Given the description of an element on the screen output the (x, y) to click on. 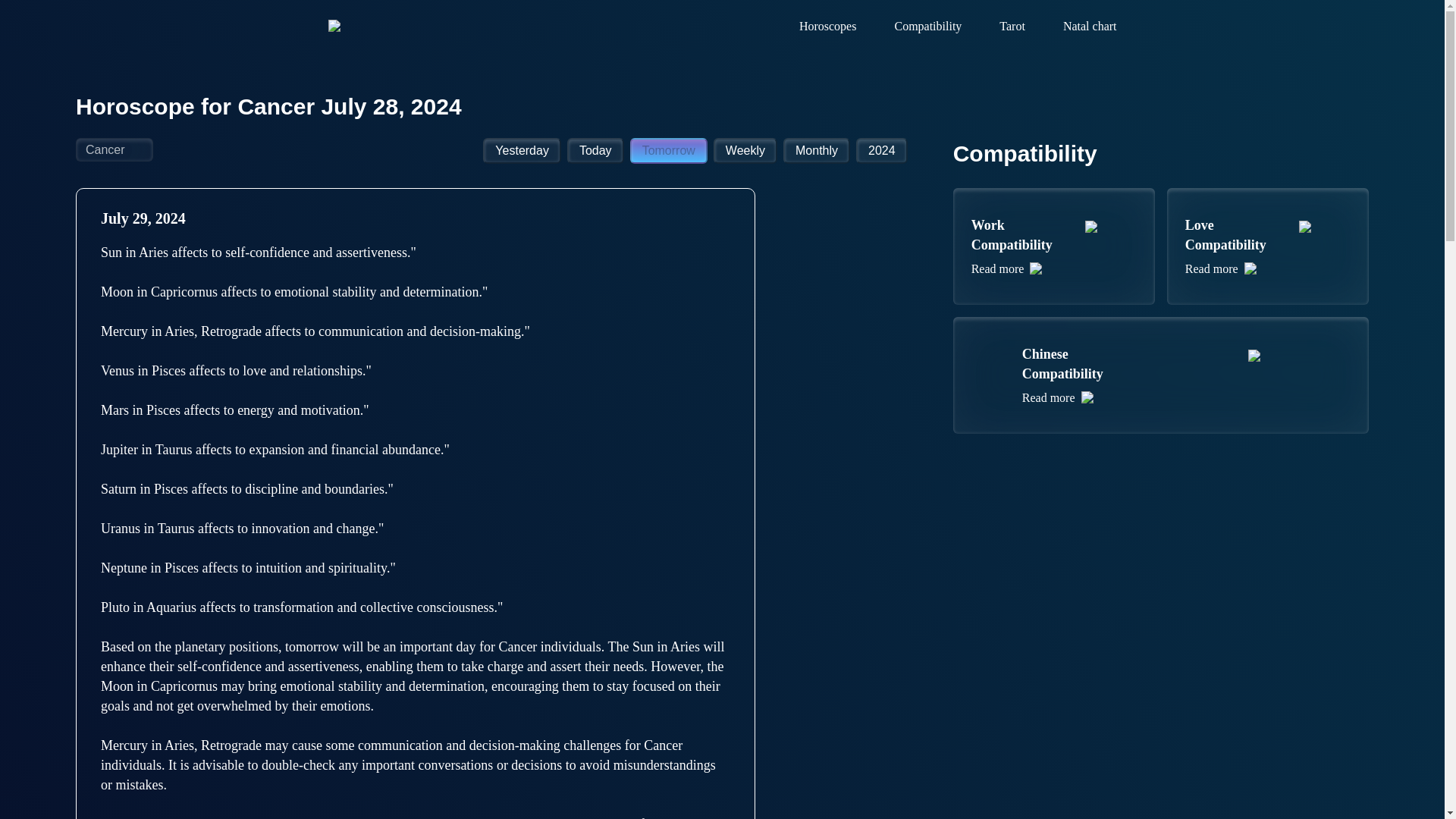
2024 (881, 150)
tomorrow (1053, 246)
2024 (668, 150)
today (881, 150)
Natal chart (595, 150)
today (1267, 246)
monthly (1089, 26)
weekly (595, 150)
yesterday (816, 150)
Tarot (745, 150)
weekly (521, 150)
yesterday (1011, 26)
Compatibility (745, 150)
